Given the description of an element on the screen output the (x, y) to click on. 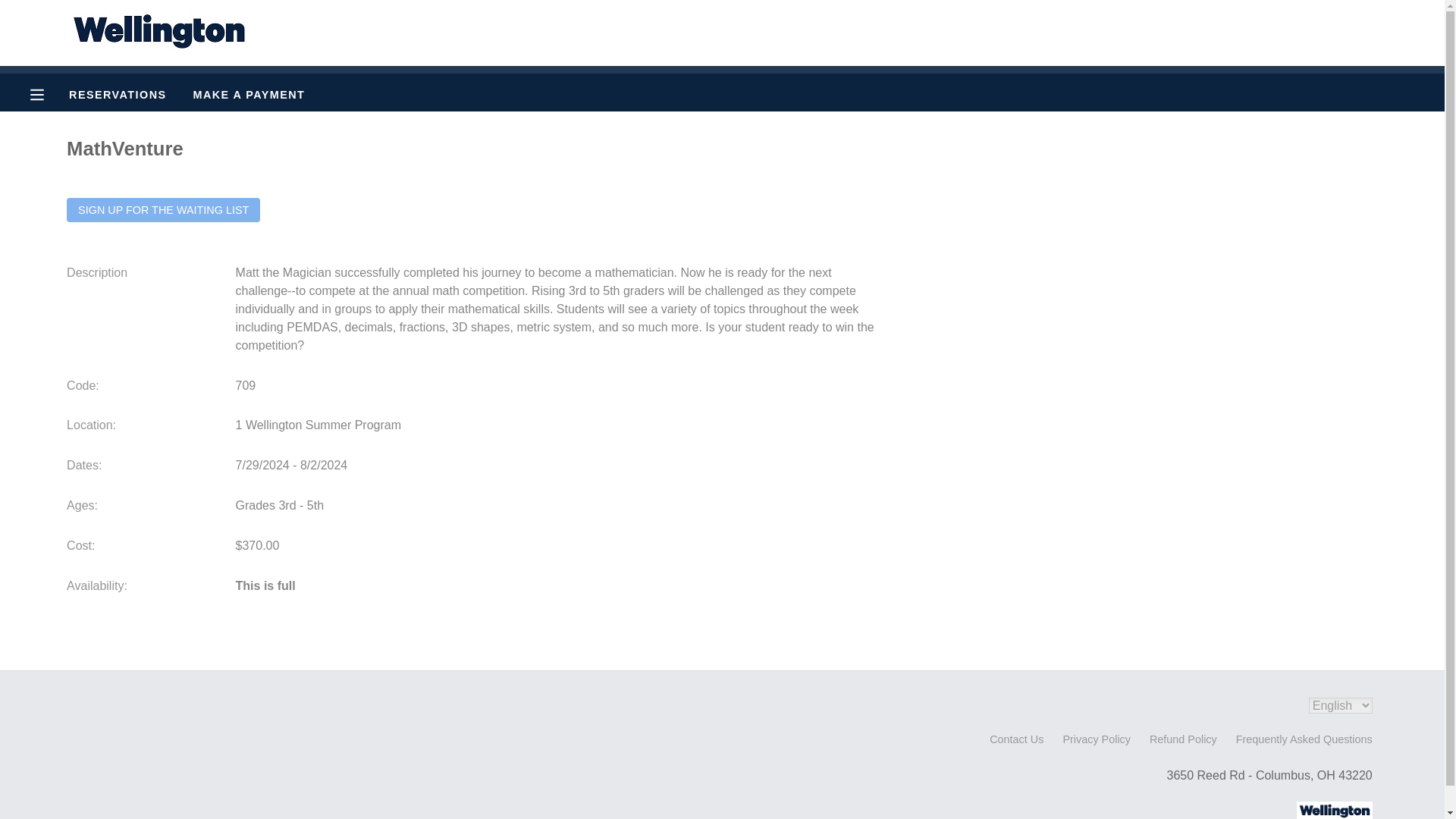
Refund Policy (1183, 739)
Contact Us (1016, 739)
Frequently Asked Questions (1304, 739)
RESERVATIONS (116, 94)
Sign up for the waiting list (163, 209)
Sign up for the waiting list (163, 209)
Privacy Policy (1096, 739)
MAKE A PAYMENT (249, 94)
Menu (48, 93)
